Given the description of an element on the screen output the (x, y) to click on. 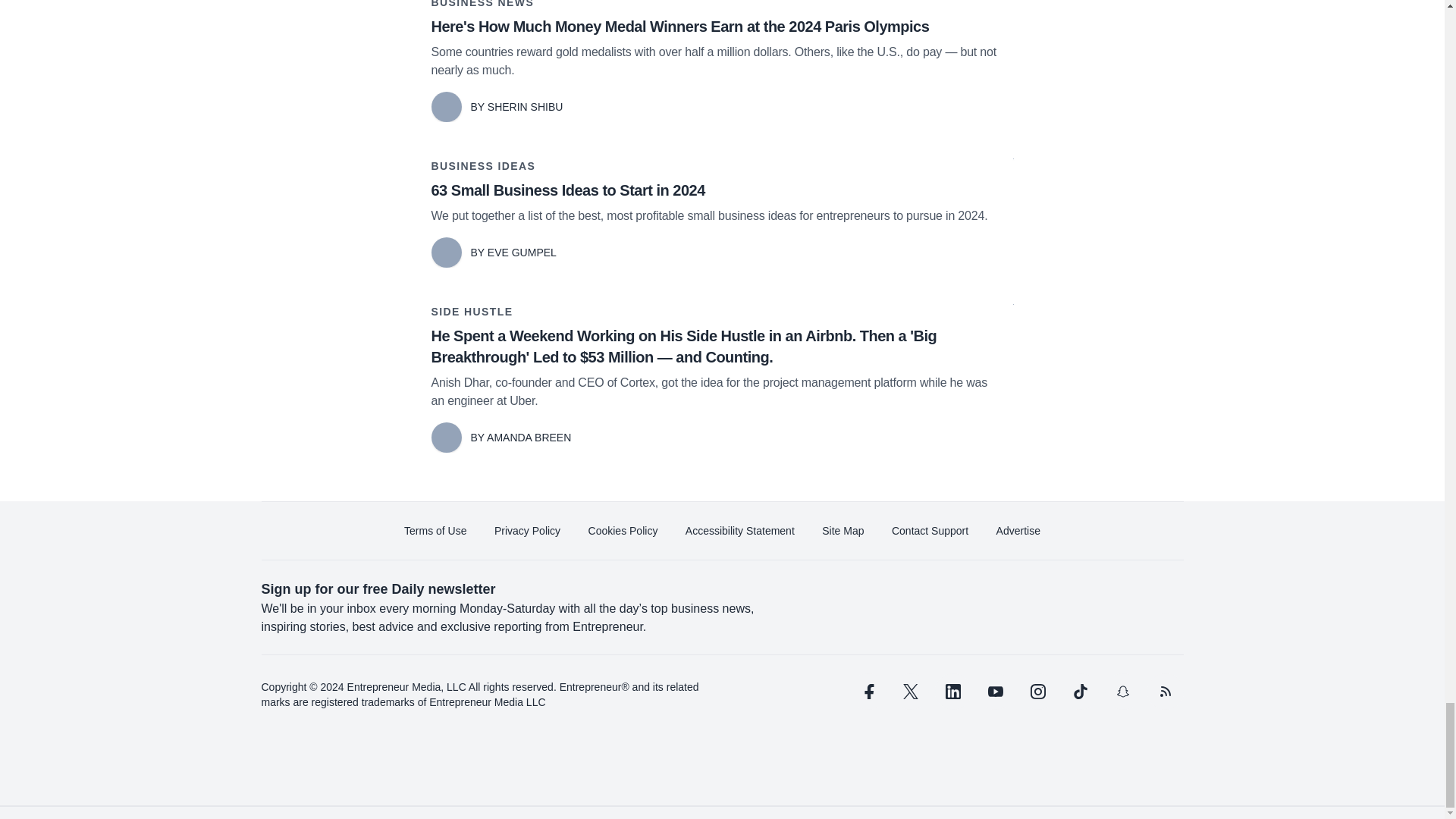
instagram (1037, 691)
youtube (994, 691)
twitter (909, 691)
snapchat (1121, 691)
linkedin (952, 691)
tiktok (1079, 691)
facebook (866, 691)
